Given the description of an element on the screen output the (x, y) to click on. 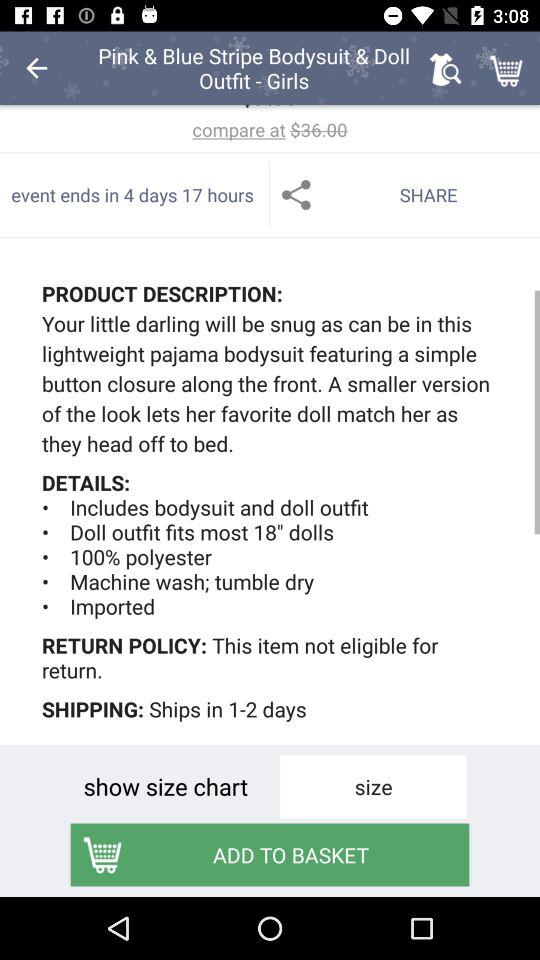
turn off the icon next to event ends in icon (405, 194)
